Given the description of an element on the screen output the (x, y) to click on. 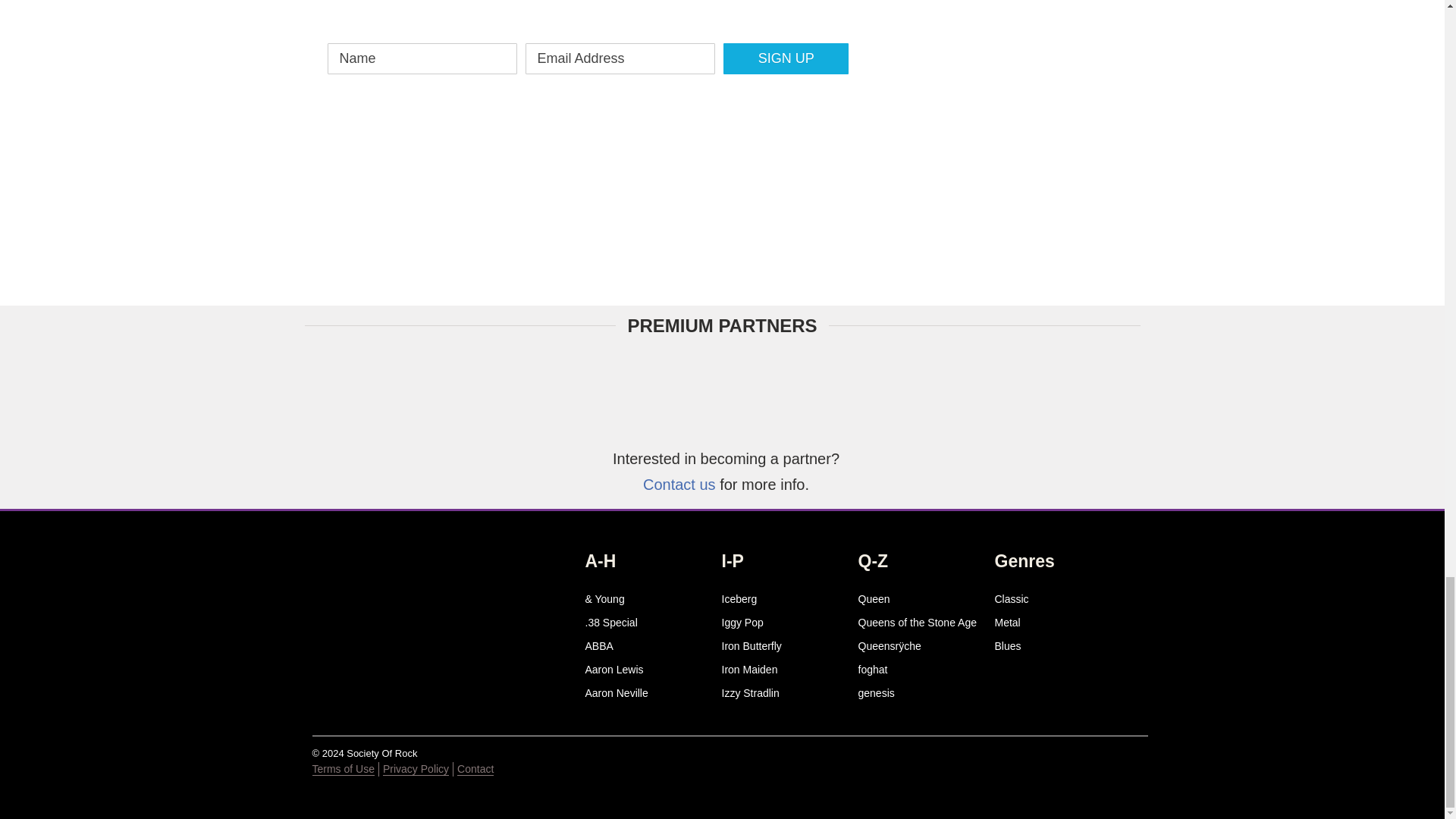
Sign Up (785, 58)
